Given the description of an element on the screen output the (x, y) to click on. 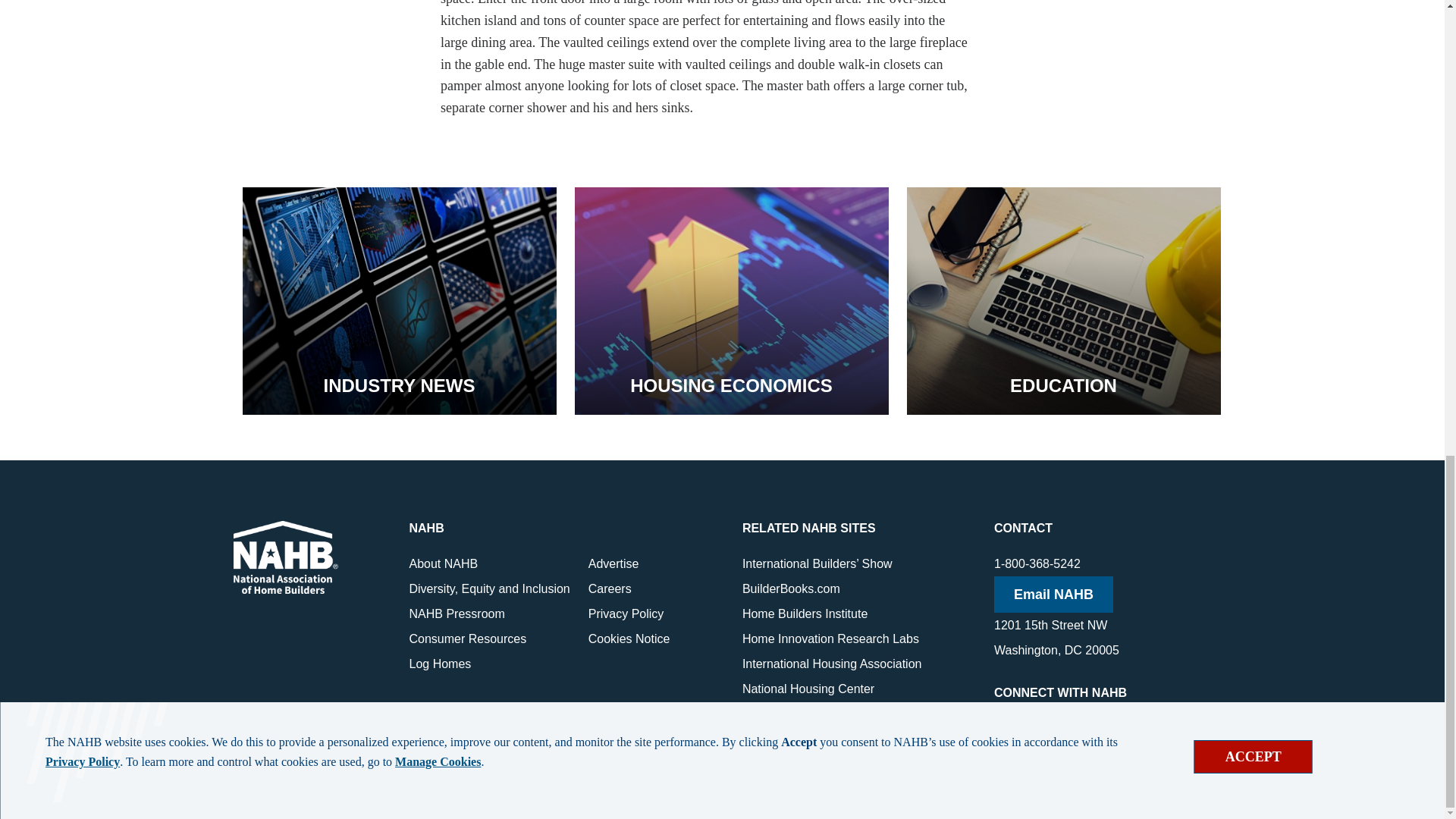
Opens a page (731, 300)
Opens a page (399, 300)
